Given the description of an element on the screen output the (x, y) to click on. 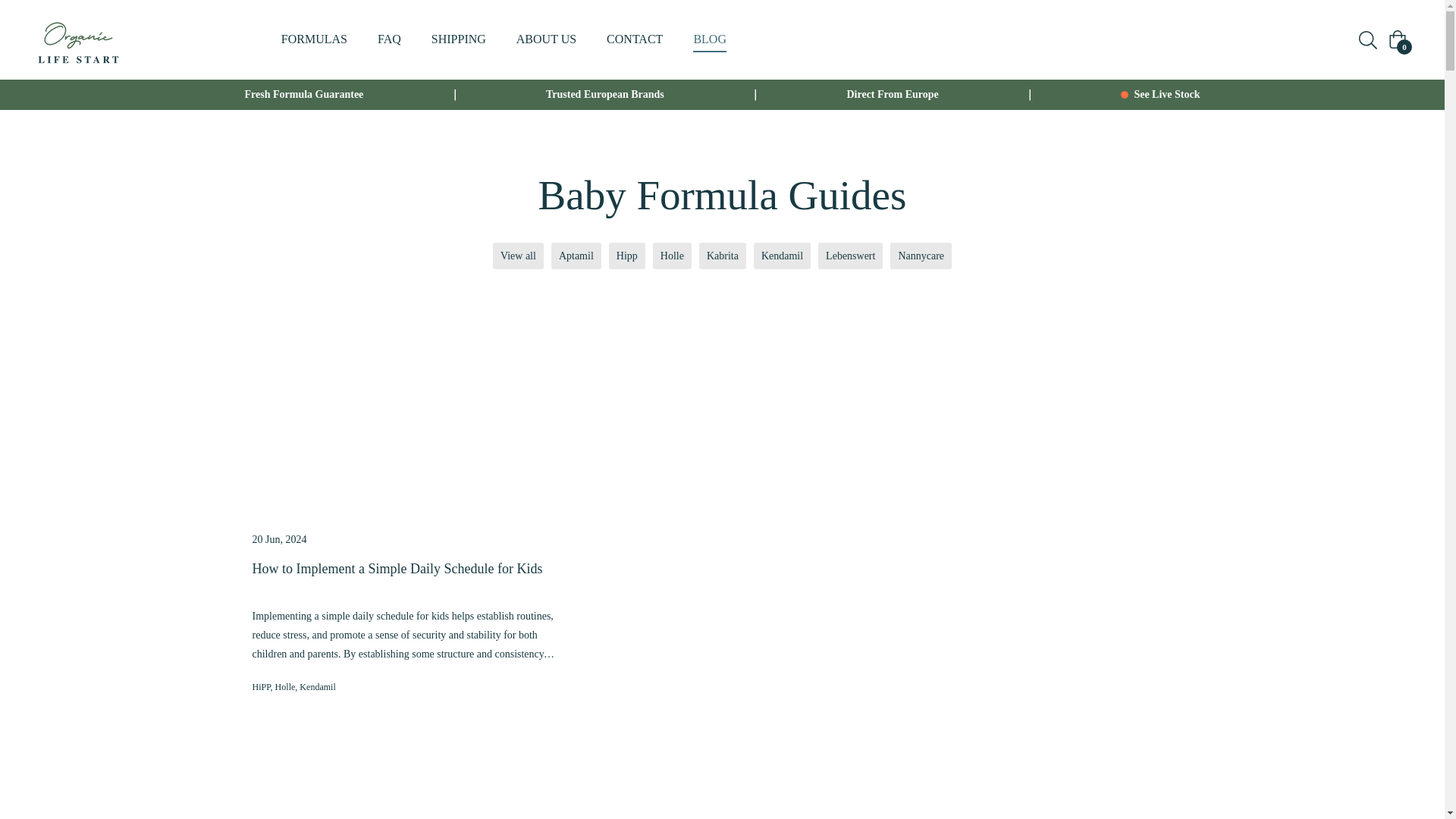
Customer reviews powered by Trustpilot (1395, 786)
Shopping Cart (1397, 39)
Holle (285, 686)
ABOUT US (545, 39)
SHIPPING (458, 39)
HiPP (260, 686)
FORMULAS (314, 39)
How to Implement a Simple Daily Schedule for Kids (402, 577)
CONTACT (634, 39)
Kendamil (316, 686)
